Given the description of an element on the screen output the (x, y) to click on. 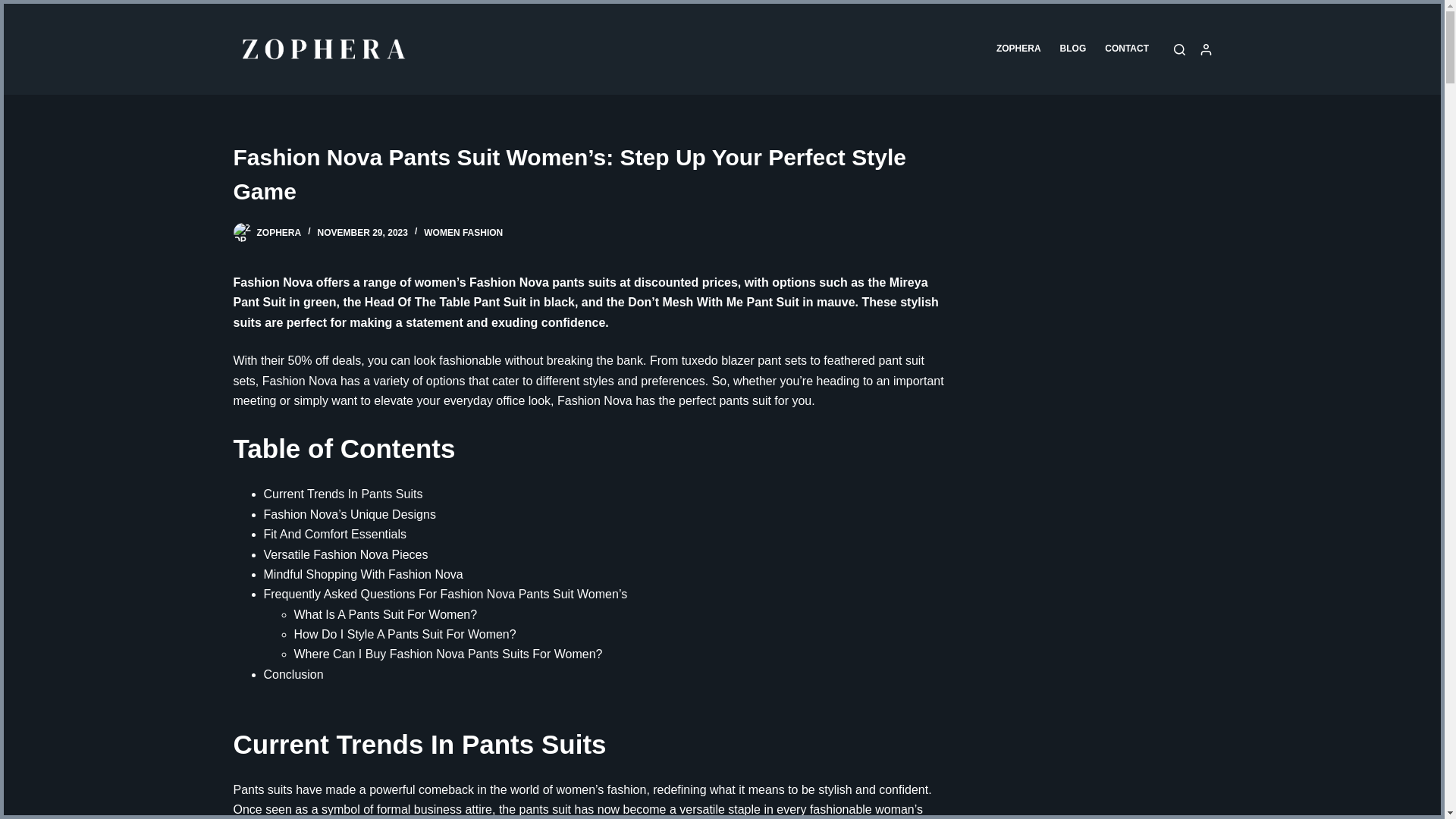
Mindful Shopping With Fashion Nova (363, 574)
Where Can I Buy Fashion Nova Pants Suits For Women? (448, 653)
What Is A Pants Suit For Women? (385, 614)
How Do I Style A Pants Suit For Women? (405, 634)
Fit And Comfort Essentials (335, 533)
Conclusion (293, 674)
Posts by Zophera (278, 232)
ZOPHERA (278, 232)
WOMEN FASHION (462, 232)
Versatile Fashion Nova Pieces (345, 554)
Skip to content (15, 7)
Current Trends In Pants Suits (343, 493)
